Given the description of an element on the screen output the (x, y) to click on. 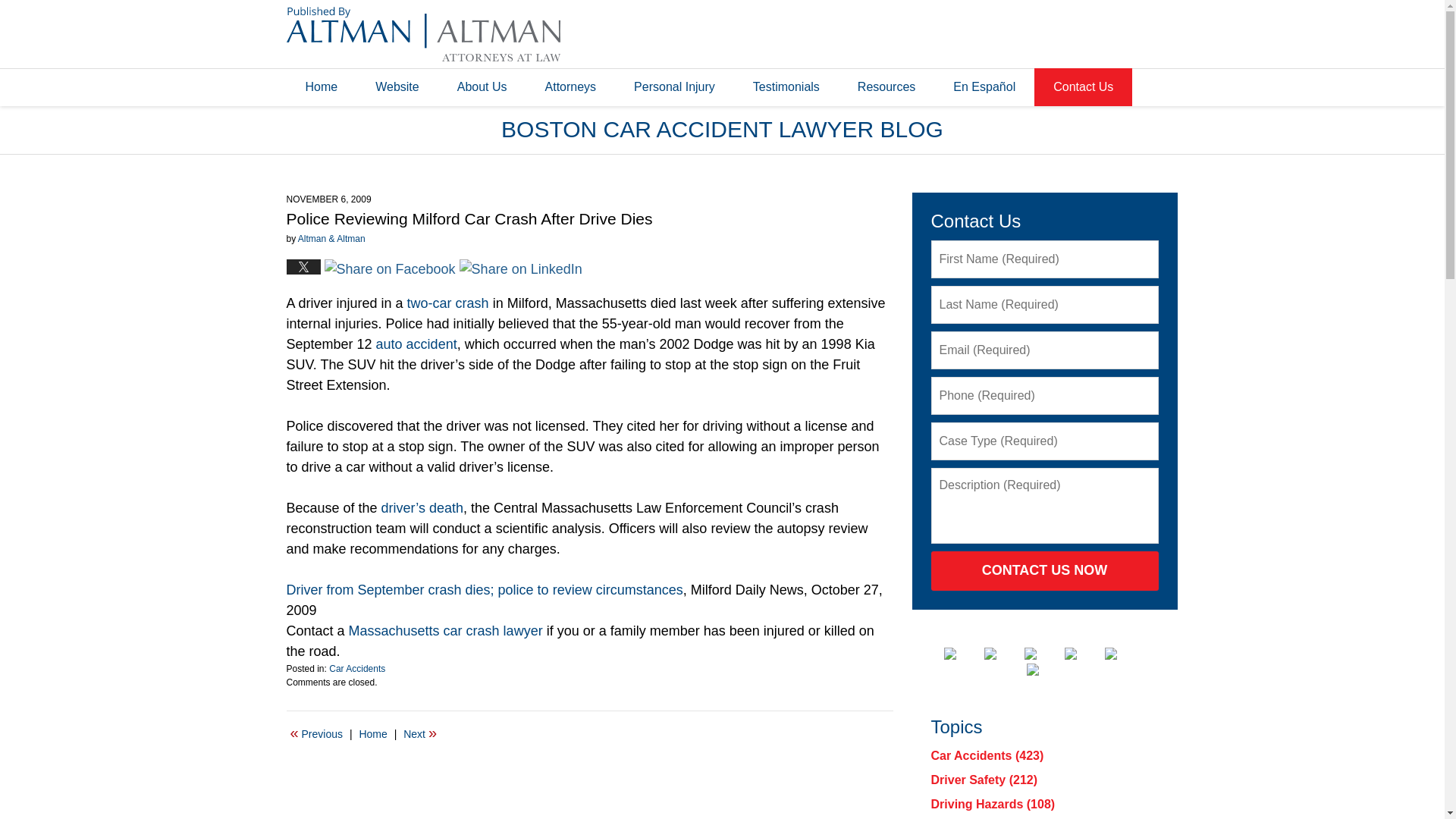
Amherst Pedestrian Accident Injures UMass Student (316, 733)
Testimonials (785, 86)
CONTACT US NOW (1044, 570)
LinkedIn (1043, 653)
Massachusetts car crash lawyer (446, 630)
Twitter (1002, 653)
Justia (1082, 653)
MBTA Commuter Train Hits and Kills Belmont Student (419, 733)
About Us (481, 86)
Please enter a valid phone number. (1044, 395)
